Given the description of an element on the screen output the (x, y) to click on. 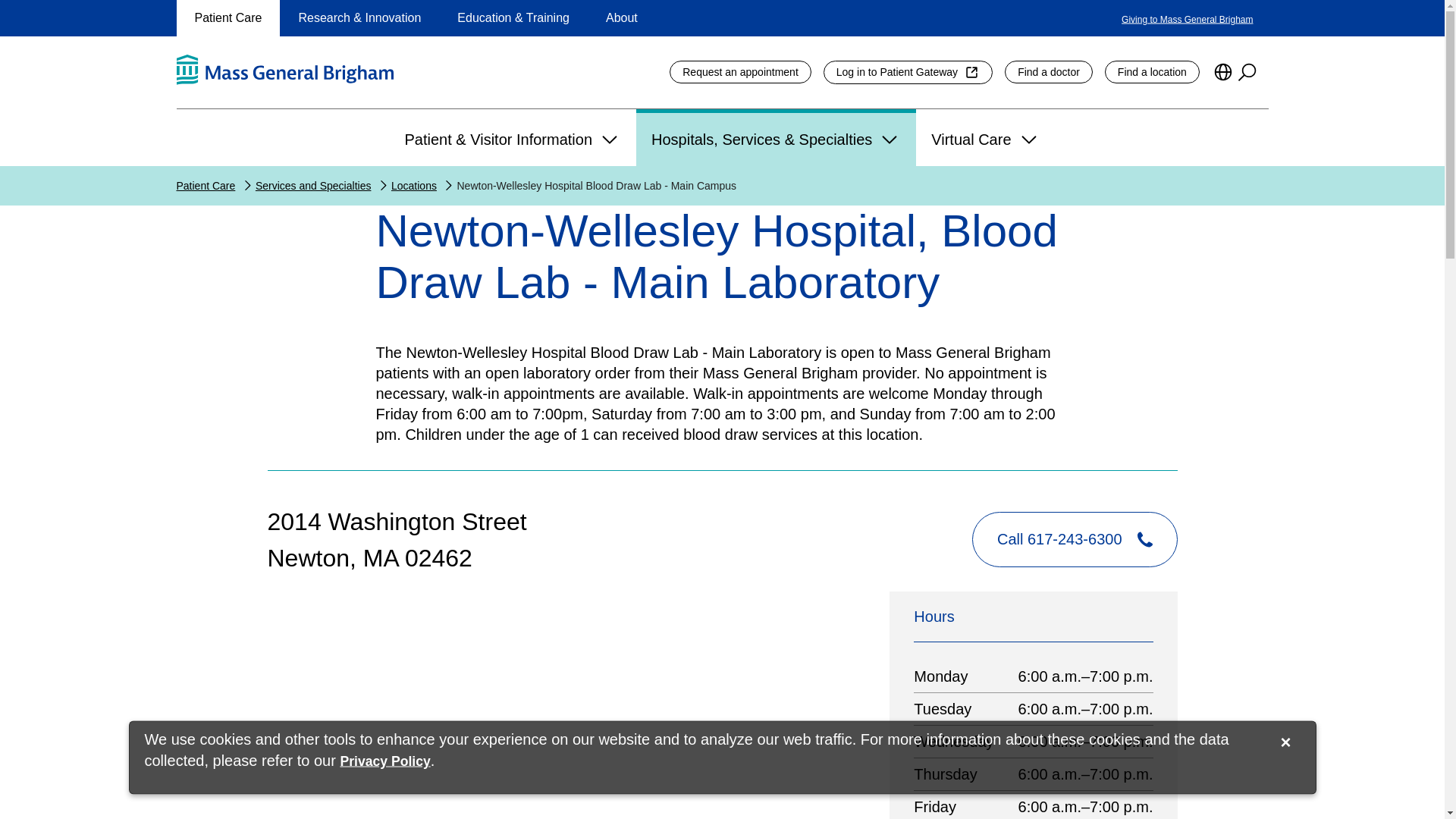
Find a location (1152, 72)
Choose Language (1222, 71)
Giving to Mass General Brigham (1186, 18)
Request an appointment (739, 72)
Patient Care (227, 18)
Log in to Patient Gateway (908, 72)
Find a doctor (1048, 72)
About (622, 18)
Search the Site (1247, 71)
